Given the description of an element on the screen output the (x, y) to click on. 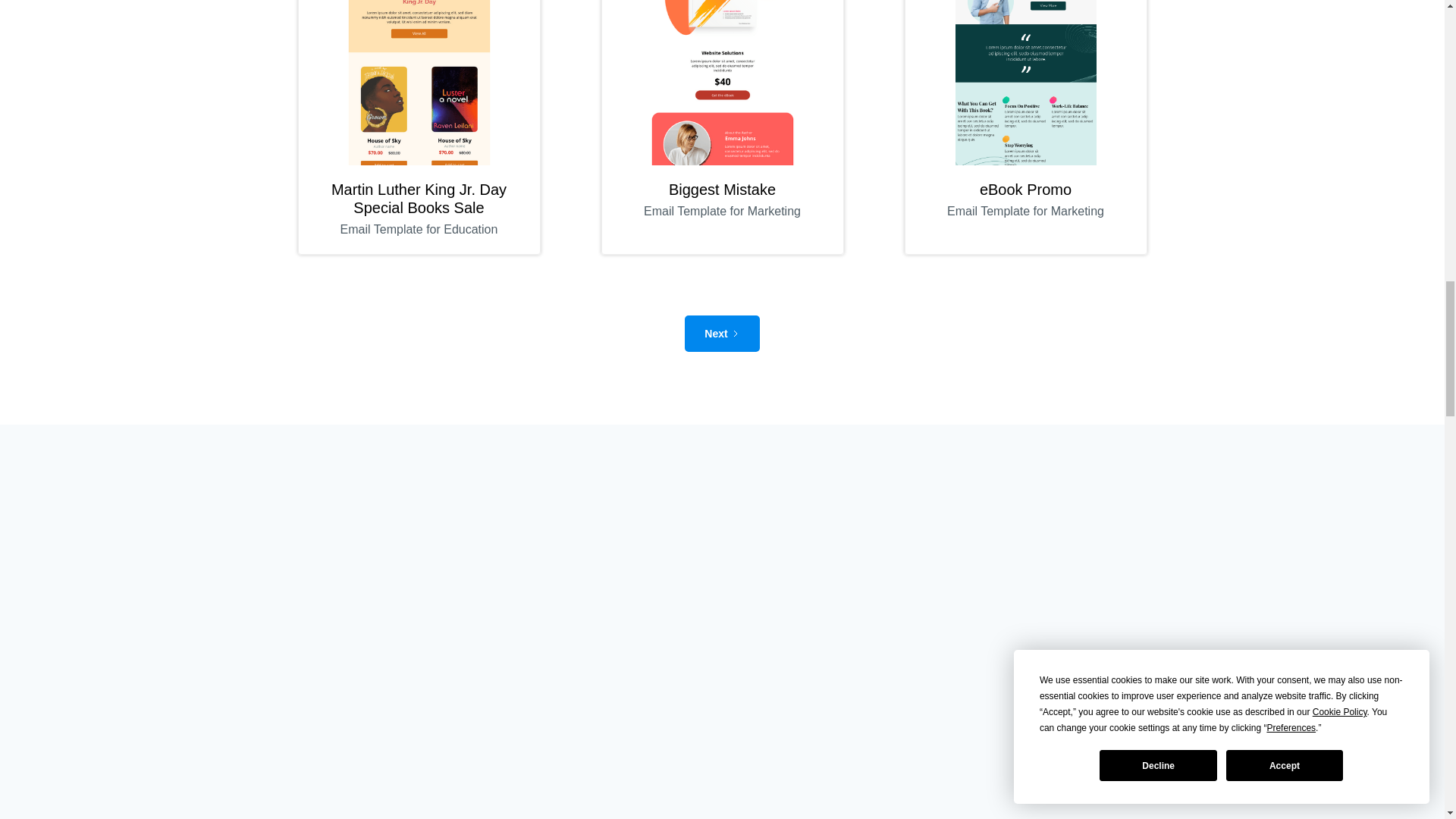
Next (721, 127)
